Given the description of an element on the screen output the (x, y) to click on. 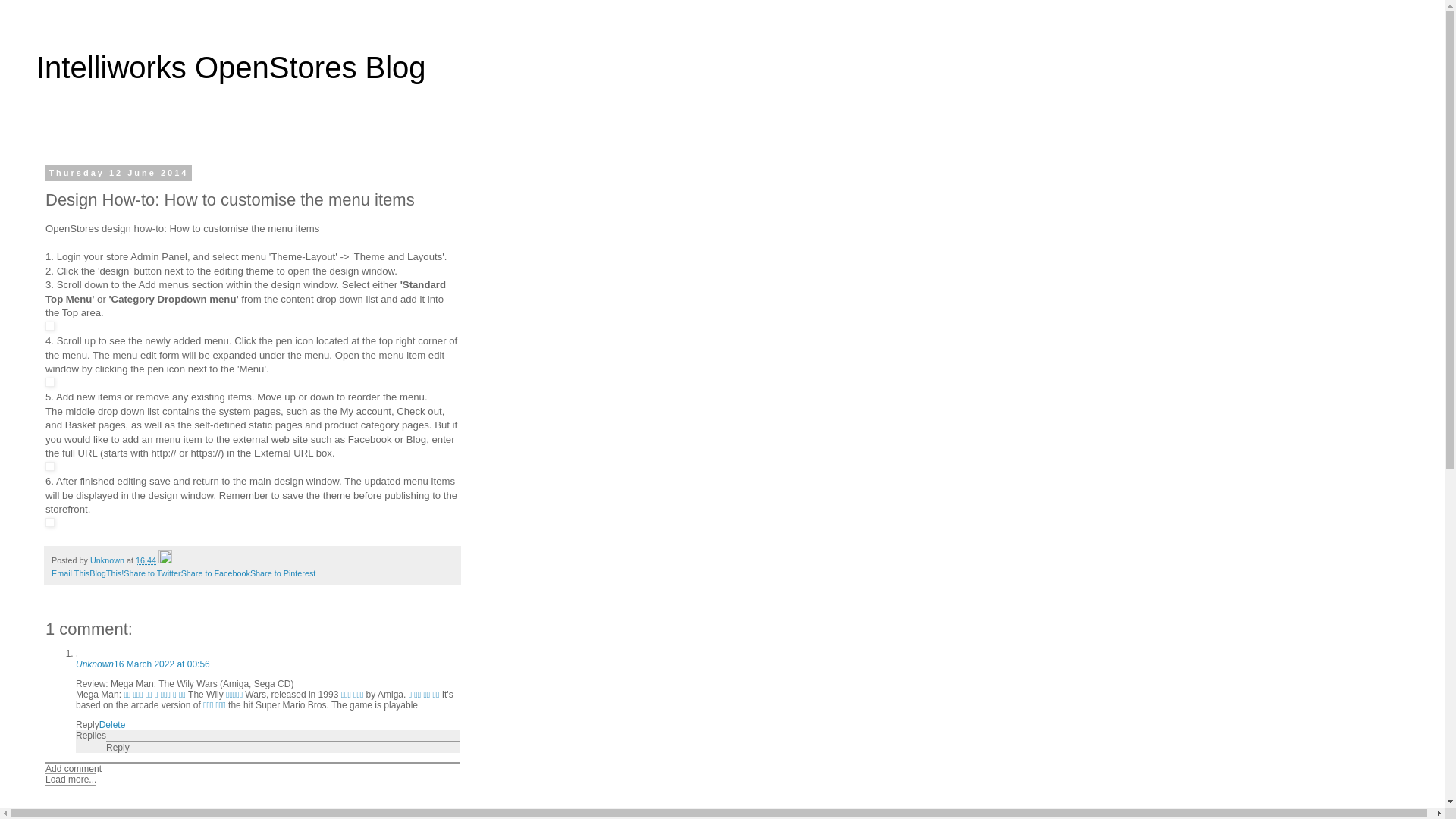
Intelliworks OpenStores Blog Element type: text (231, 67)
BlogThis! Element type: text (106, 572)
Share to Pinterest Element type: text (282, 572)
16 March 2022 at 00:56 Element type: text (161, 663)
Email This Element type: text (70, 572)
Load more... Element type: text (70, 779)
Reply Element type: text (117, 747)
Edit Post Element type: hover (165, 559)
Share to Facebook Element type: text (215, 572)
Reply Element type: text (87, 724)
Unknown Element type: text (108, 559)
16:44 Element type: text (145, 559)
Delete Element type: text (112, 724)
Replies Element type: text (90, 735)
Add comment Element type: text (73, 768)
Share to Twitter Element type: text (151, 572)
Unknown Element type: text (94, 663)
